Given the description of an element on the screen output the (x, y) to click on. 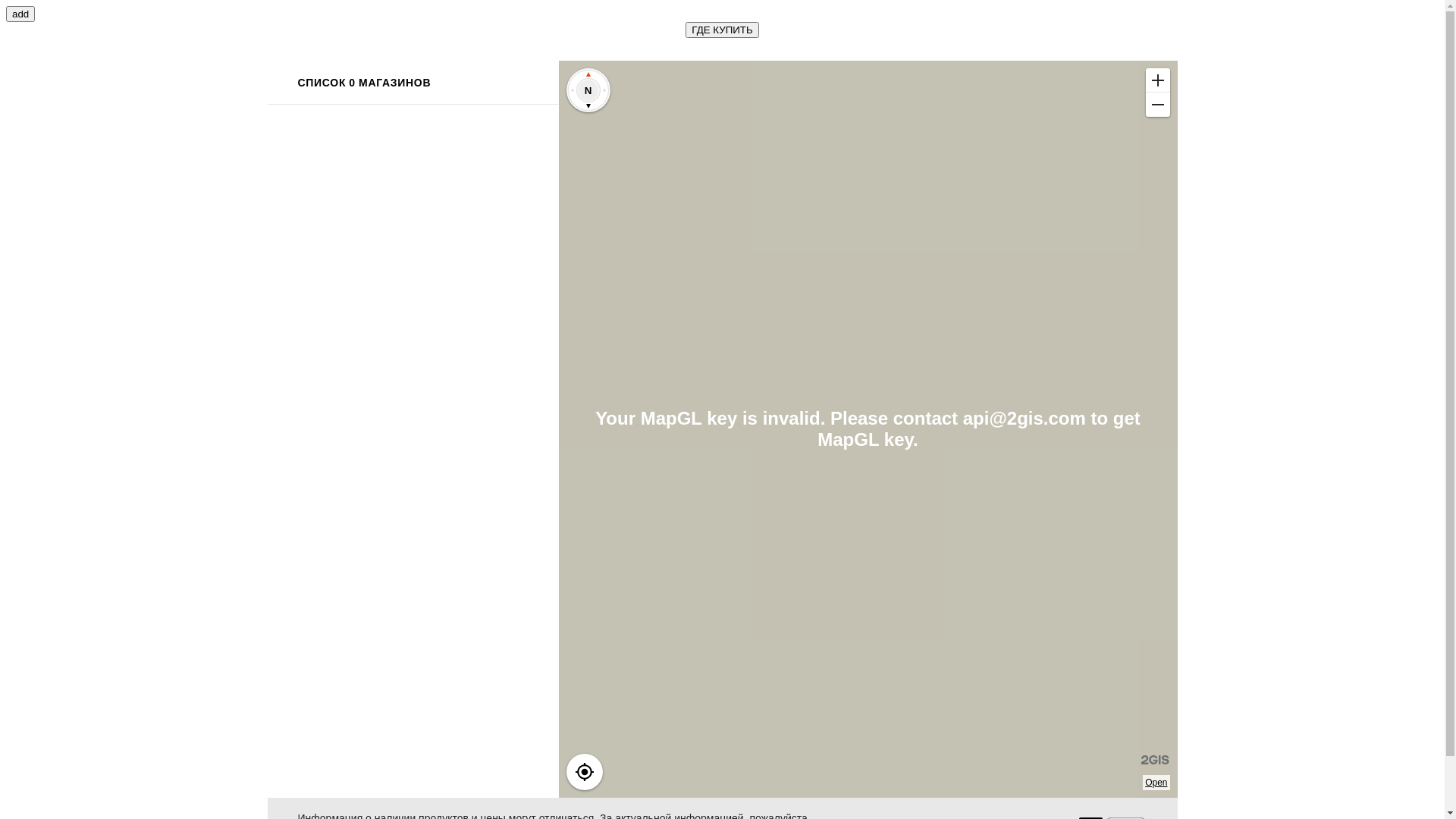
N Element type: text (587, 90)
Open Element type: text (1155, 782)
add Element type: text (20, 13)
